Given the description of an element on the screen output the (x, y) to click on. 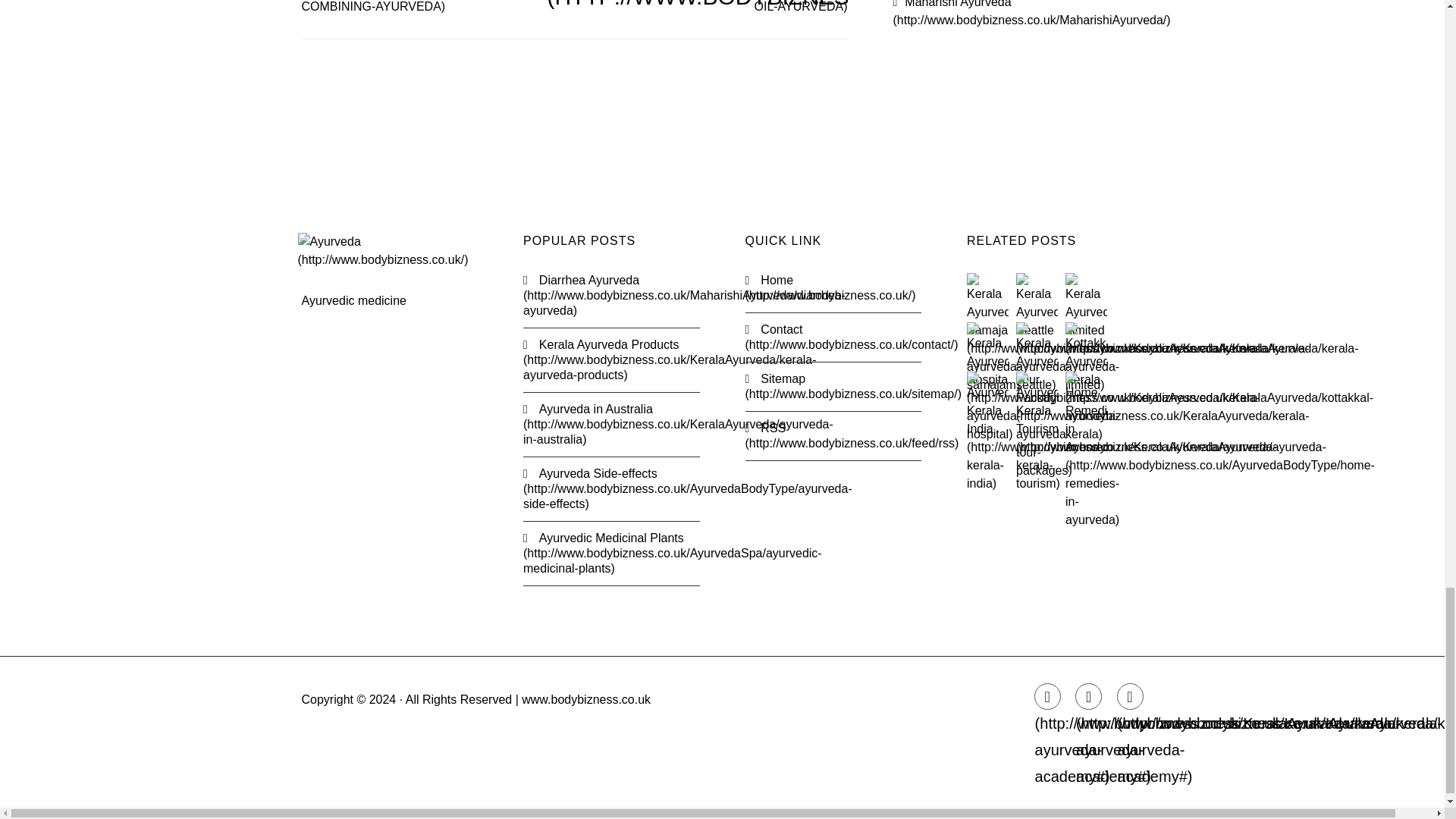
View all posts filed under Maharishi Ayurveda (1031, 13)
PREVIOUS POST (486, 6)
NEXT POST (799, 6)
